Given the description of an element on the screen output the (x, y) to click on. 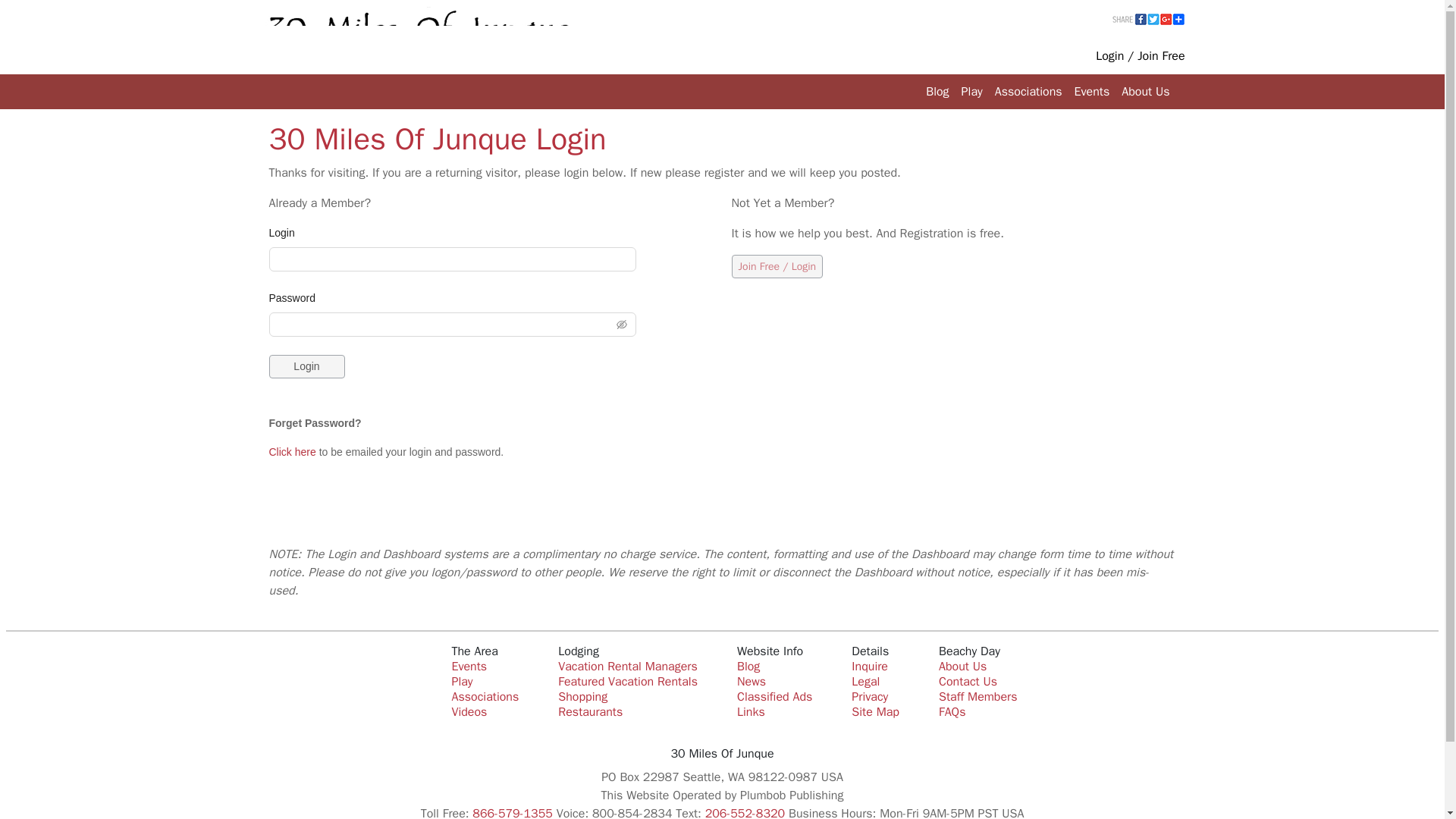
News (750, 681)
Staff Members (978, 696)
Videos (468, 711)
About Us (963, 666)
Vacation Rental Managers (627, 666)
Blog (937, 91)
FAQs (952, 711)
Links (750, 711)
Associations (1028, 91)
Associations (484, 696)
Events (468, 666)
Privacy (869, 696)
About Us (1144, 91)
Play (971, 91)
206-552-8320 (745, 812)
